Given the description of an element on the screen output the (x, y) to click on. 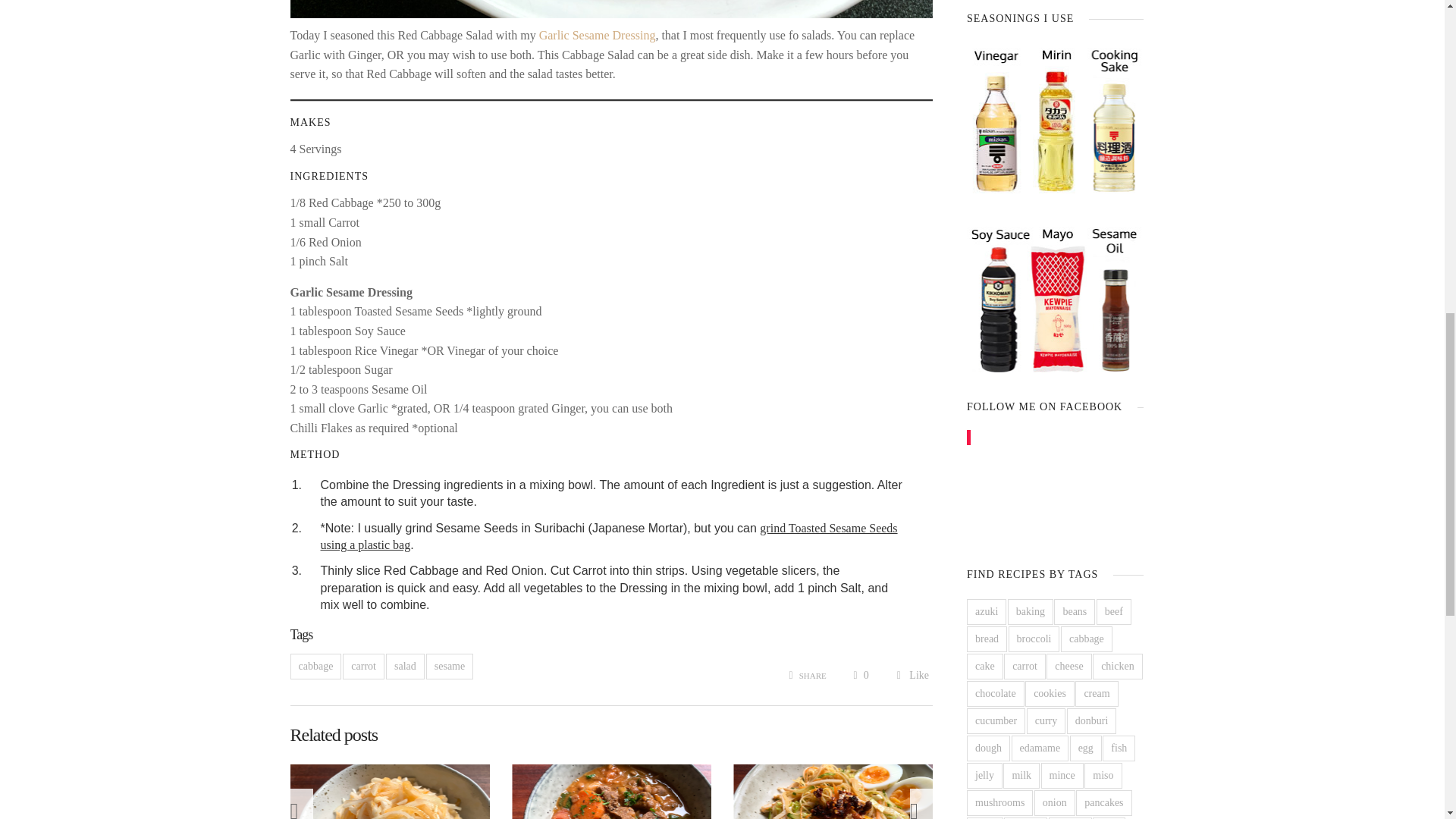
sesame (449, 666)
0 (860, 674)
salad (405, 666)
Garlic Sesame Dressing (597, 34)
Like (911, 674)
carrot (363, 666)
 Like (911, 674)
cabbage (314, 666)
grind Toasted Sesame Seeds using a plastic bag (608, 536)
